Given the description of an element on the screen output the (x, y) to click on. 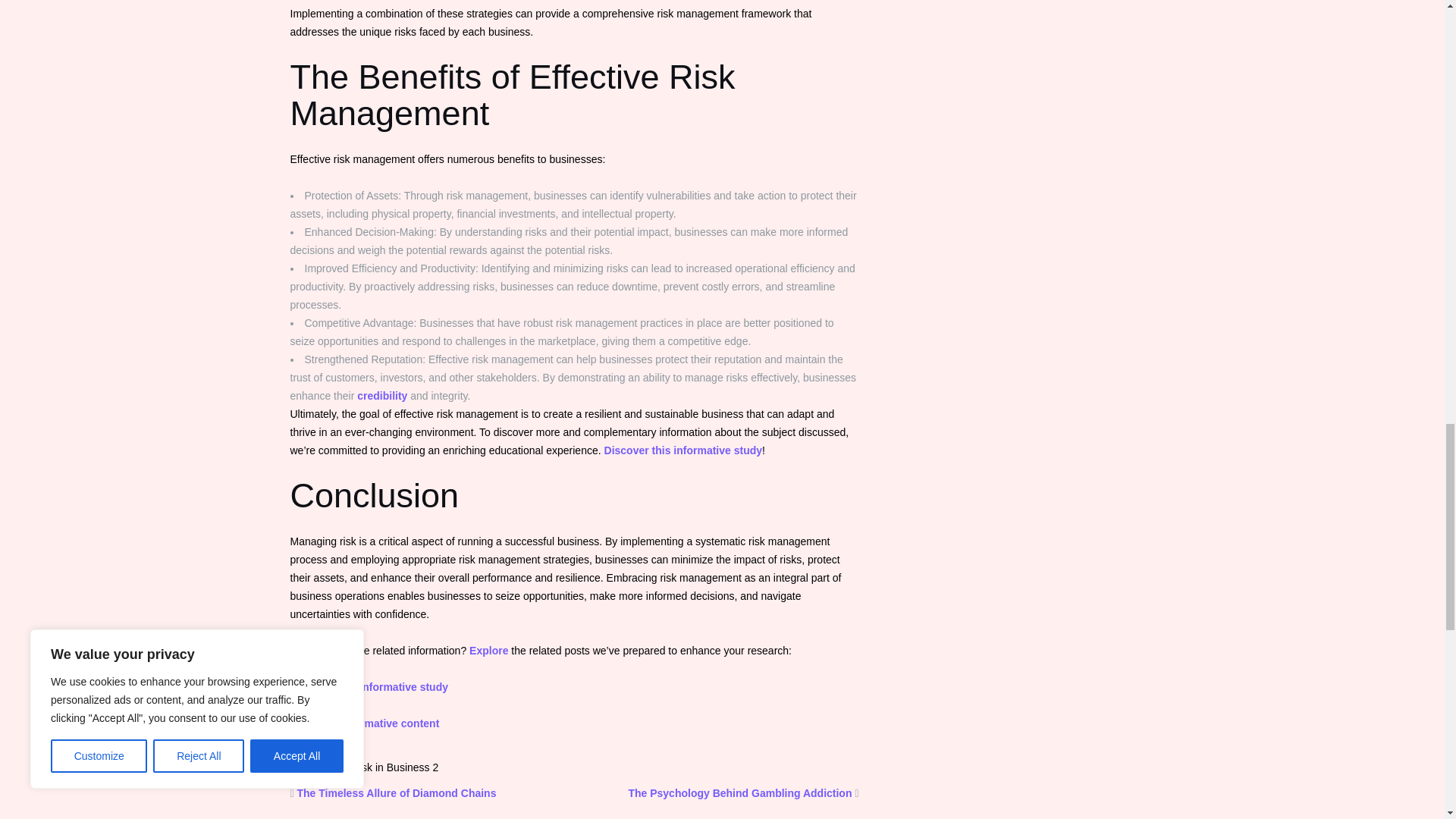
The Psychology Behind Gambling Addiction (739, 793)
Explore (488, 650)
credibility (381, 395)
Read this informative content (364, 723)
Discover this informative study (368, 686)
Discover this informative study (683, 450)
The Timeless Allure of Diamond Chains (396, 793)
